Given the description of an element on the screen output the (x, y) to click on. 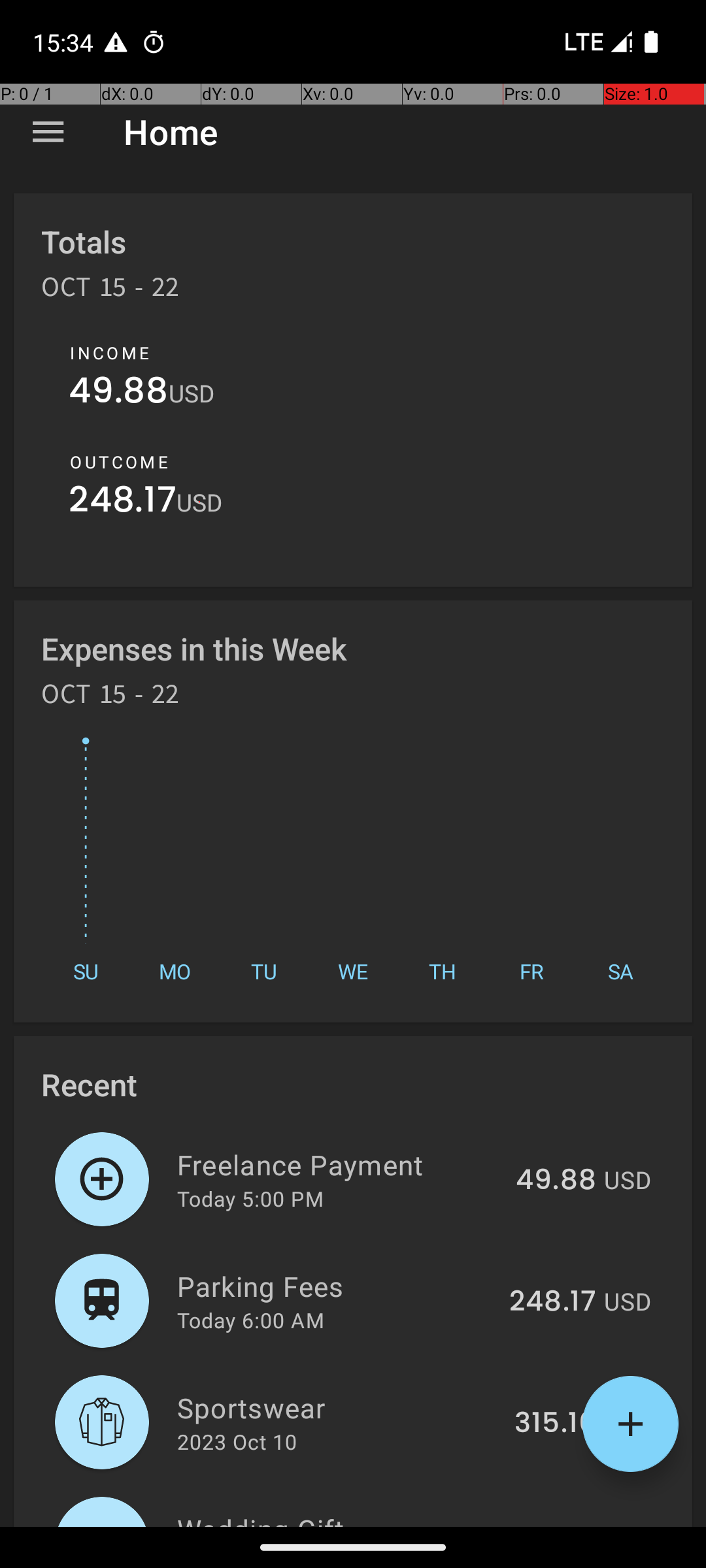
49.88 Element type: android.widget.TextView (118, 393)
248.17 Element type: android.widget.TextView (122, 502)
Freelance Payment Element type: android.widget.TextView (338, 1164)
Today 5:00 PM Element type: android.widget.TextView (250, 1198)
Parking Fees Element type: android.widget.TextView (335, 1285)
Today 6:00 AM Element type: android.widget.TextView (250, 1320)
Sportswear Element type: android.widget.TextView (338, 1407)
2023 Oct 10 Element type: android.widget.TextView (236, 1441)
315.16 Element type: android.widget.TextView (554, 1423)
Wedding Gift Element type: android.widget.TextView (330, 1518)
446.28 Element type: android.widget.TextView (547, 1524)
